Given the description of an element on the screen output the (x, y) to click on. 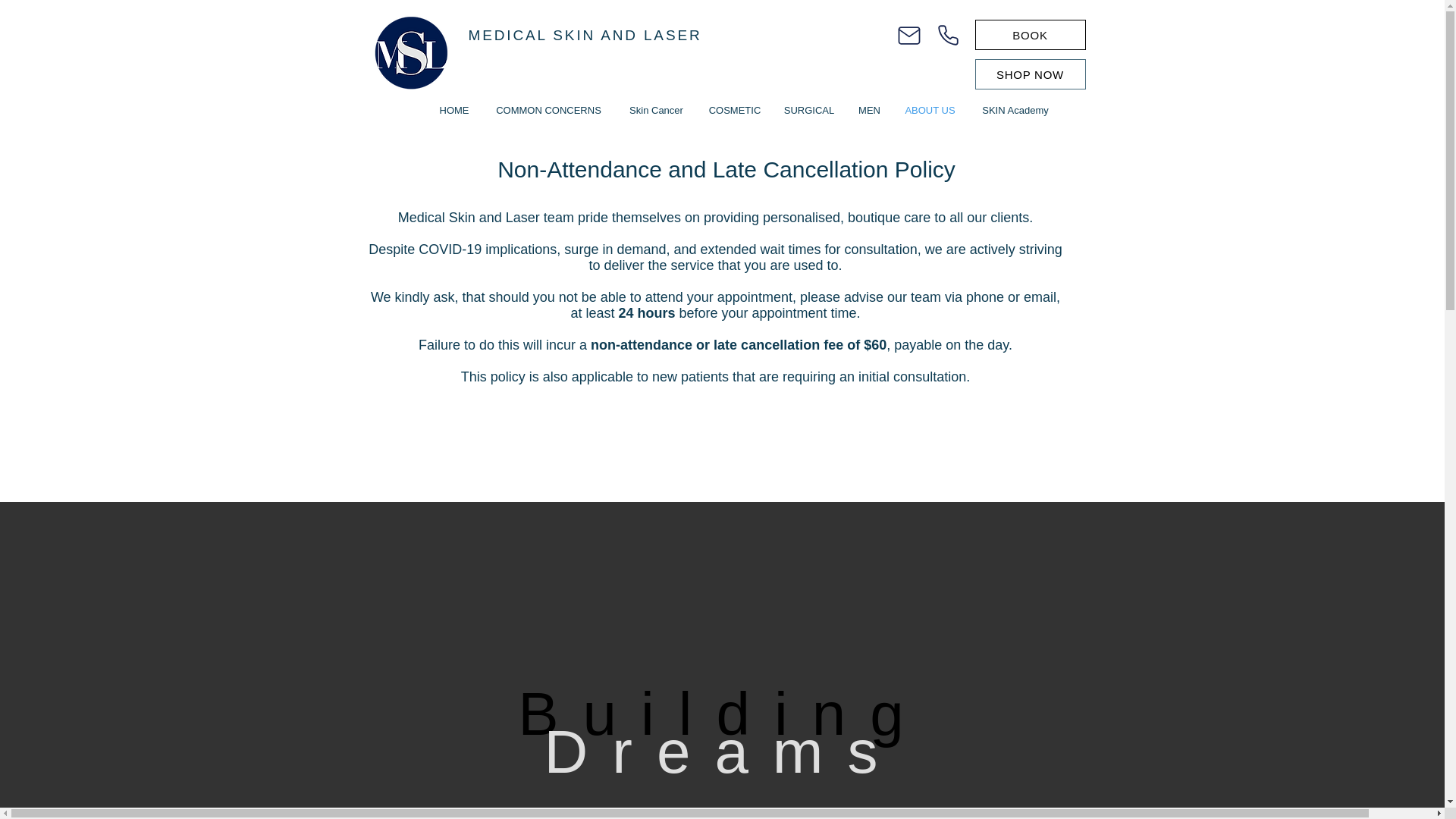
COSMETIC (735, 110)
BOOK (1030, 34)
HOME (453, 110)
SHOP NOW (1030, 73)
